Given the description of an element on the screen output the (x, y) to click on. 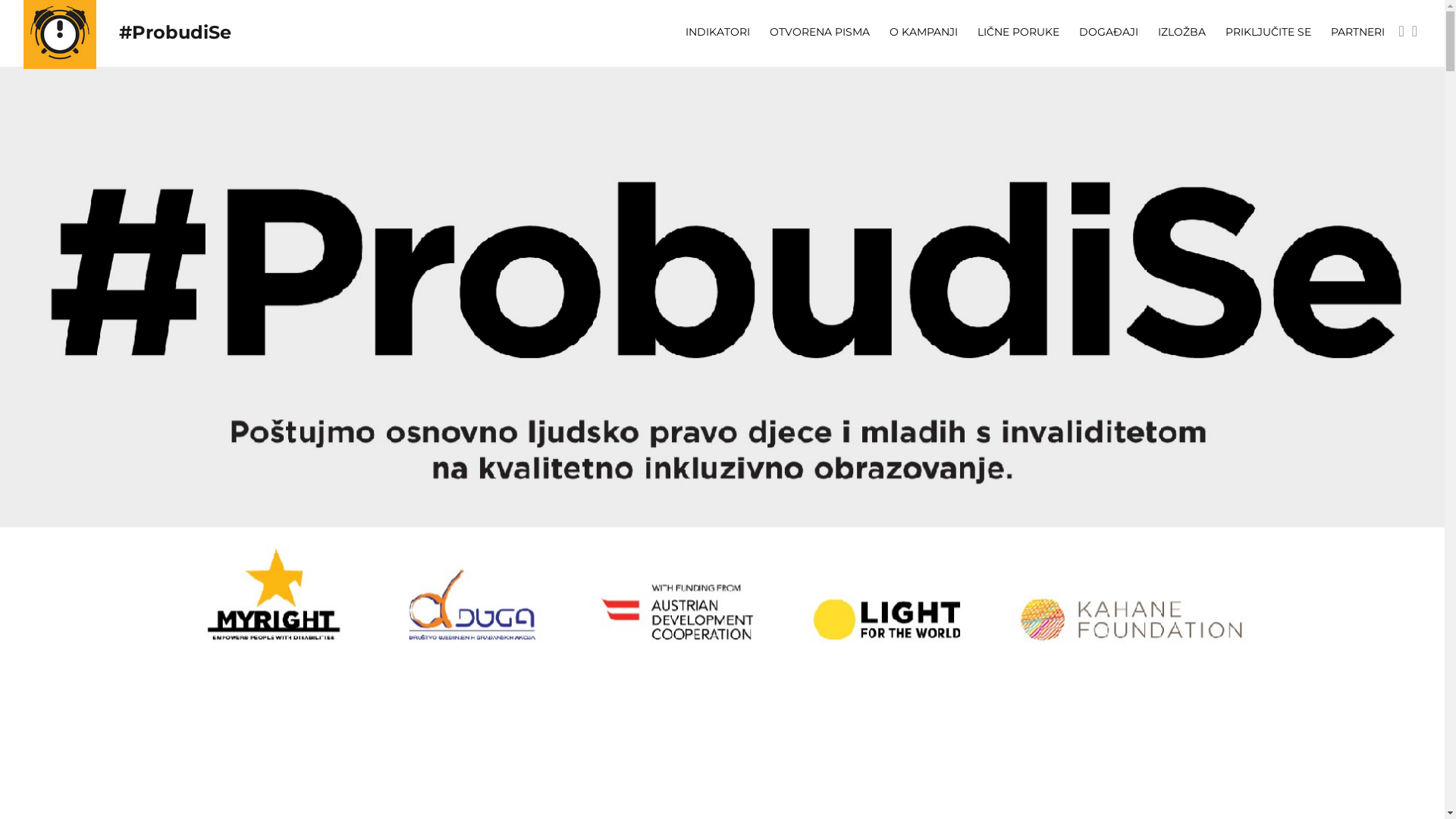
OTVORENA PISMA Element type: text (819, 32)
INDIKATORI Element type: text (717, 32)
O KAMPANJI Element type: text (923, 32)
facebook Element type: hover (1400, 32)
PARTNERI Element type: text (1357, 32)
instagram Element type: hover (1414, 32)
